Given the description of an element on the screen output the (x, y) to click on. 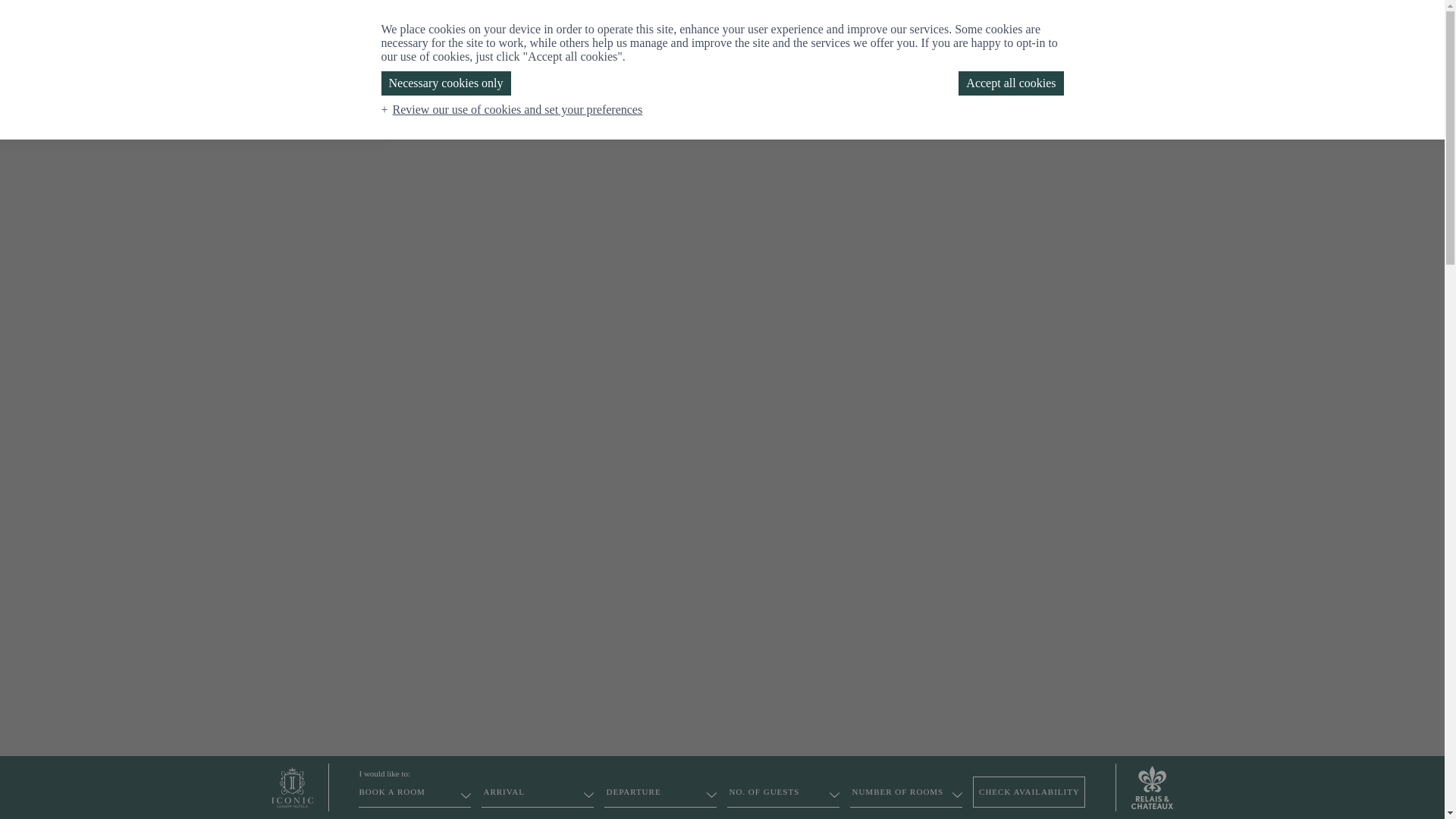
CHECK AVAILABILITY Element type: text (1028, 791)
GIFTS Element type: text (1244, 48)
Review our use of cookies and set your preferences Element type: text (513, 109)
BOOK NOW Element type: text (1374, 48)
Accept all cookies Element type: text (1010, 83)
Necessary cookies only Element type: text (445, 83)
APARTMENTS Element type: text (493, 109)
TOWNHOUSE Element type: text (584, 109)
MEETINGS & EVENTS Element type: text (836, 109)
ROOMS & SUITES Element type: text (392, 109)
OFFERS Element type: text (1008, 109)
GALLERY Element type: text (1072, 109)
BOOK A ROOM Element type: text (414, 795)
LOCATION Element type: text (940, 109)
CHRISTMAS Element type: text (728, 109)
DINING Element type: text (657, 109)
